Given the description of an element on the screen output the (x, y) to click on. 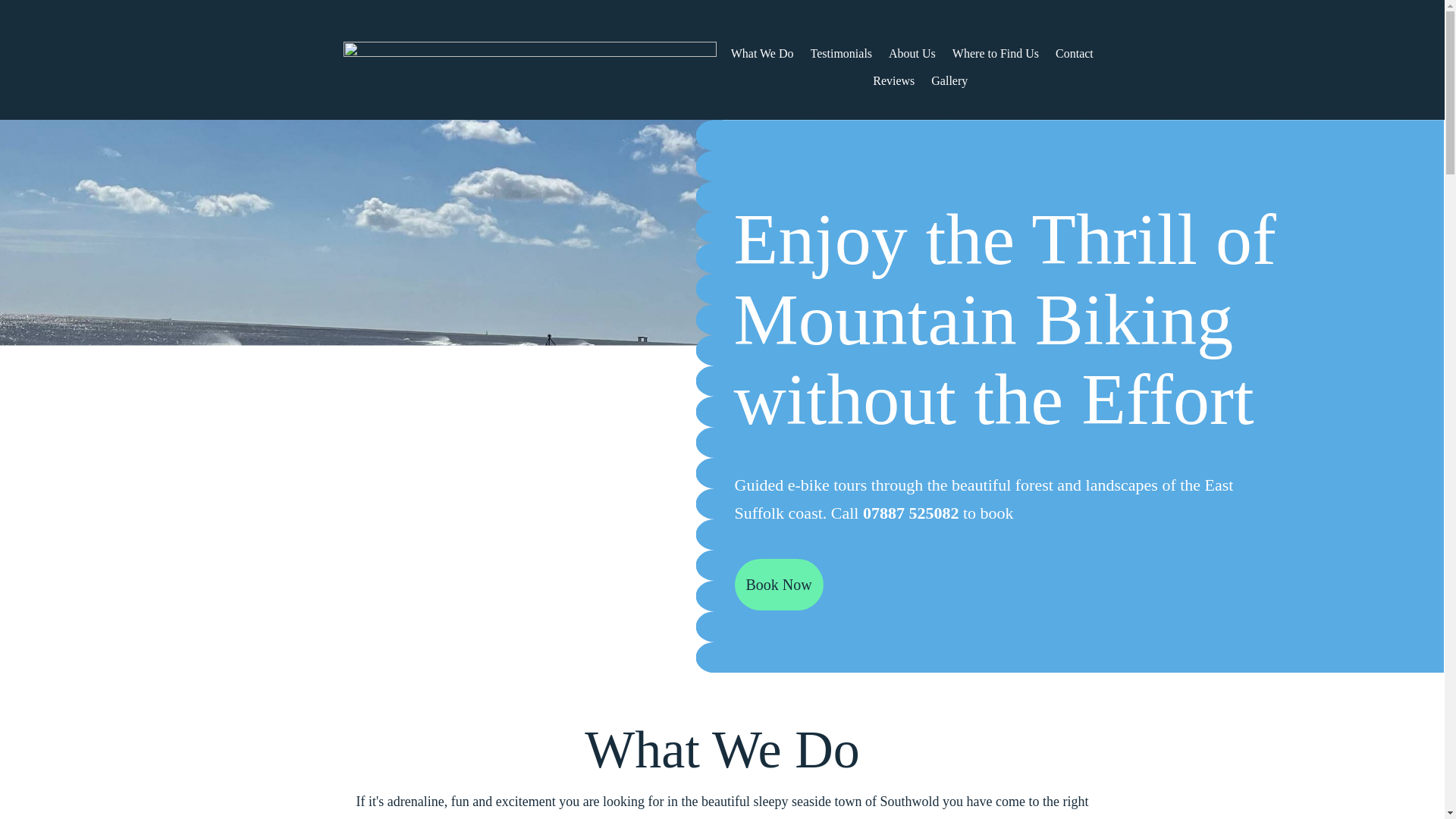
Reviews (893, 80)
Book Now (777, 583)
Testimonials (841, 53)
Gallery (949, 80)
About Us (912, 53)
What We Do (761, 53)
Contact (1074, 53)
Where to Find Us (995, 53)
